Given the description of an element on the screen output the (x, y) to click on. 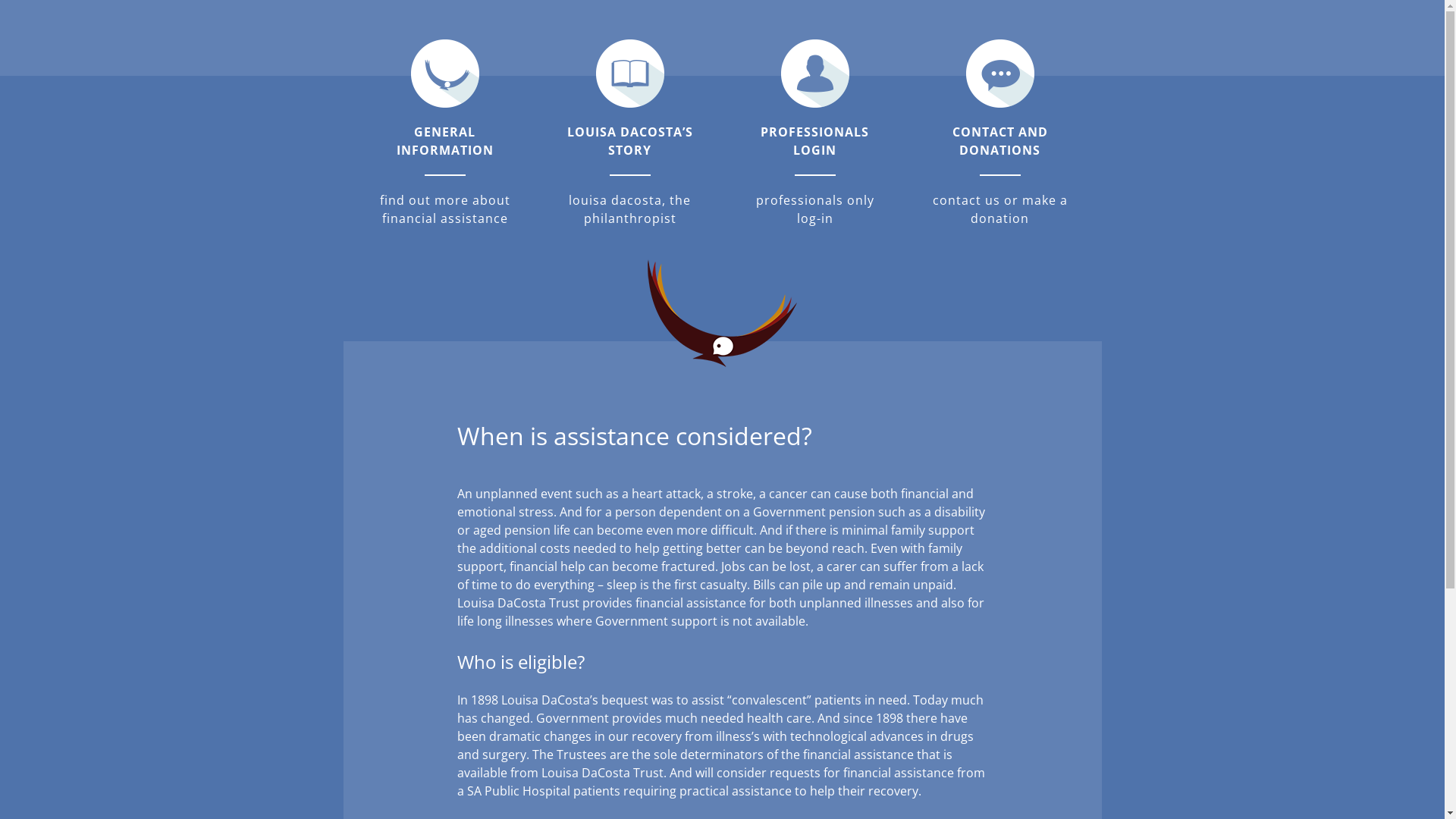
GENERAL INFORMATION
find out more about financial assistance Element type: text (444, 133)
Louisa DaCosta Trust Element type: text (61, 67)
PROFESSIONALS LOGIN
professionals only log-in Element type: text (814, 133)
Skip to content Element type: text (0, 0)
CONTACT AND DONATIONS
contact us or make a donation Element type: text (999, 133)
